Given the description of an element on the screen output the (x, y) to click on. 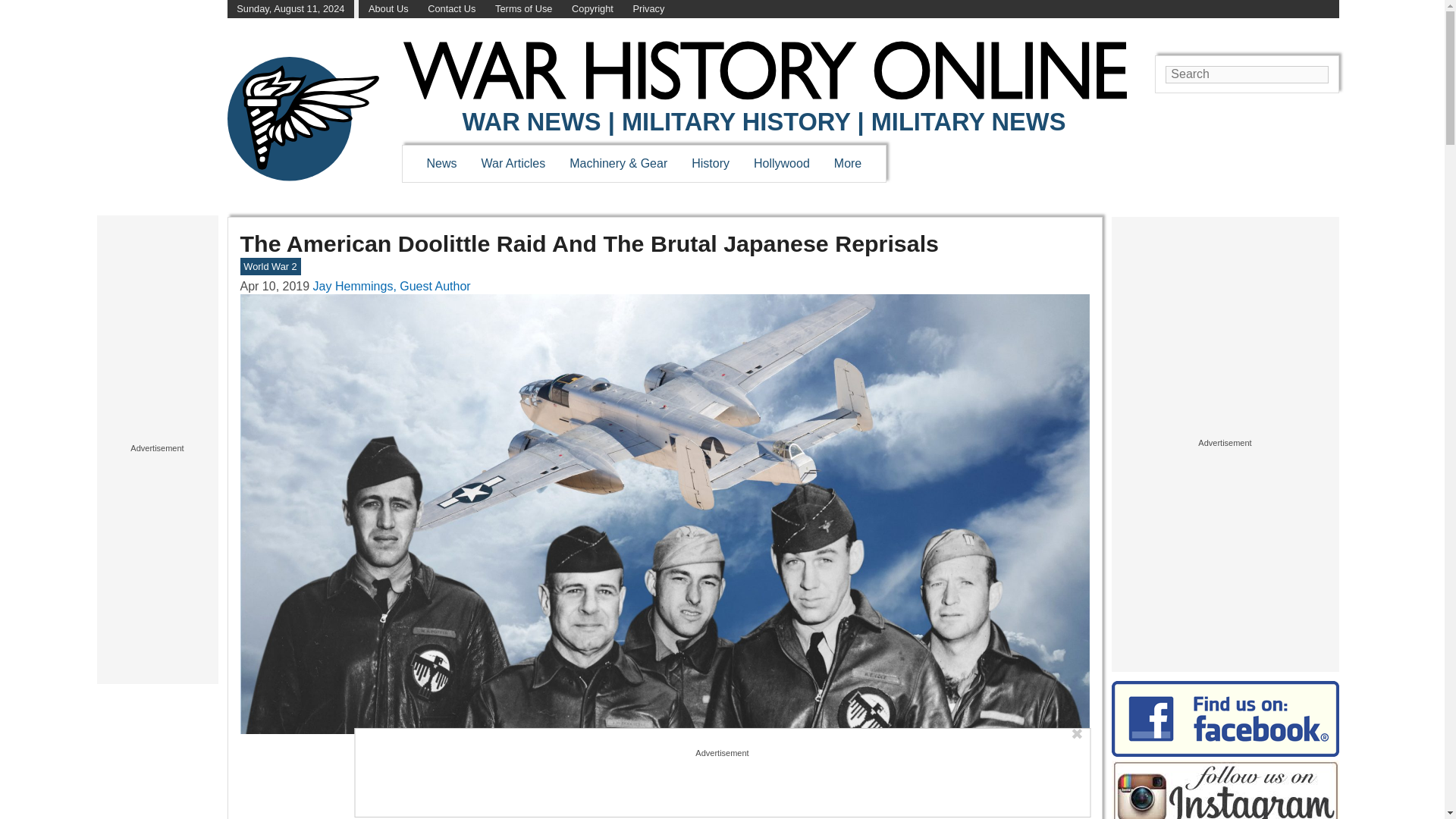
Contact Us (452, 8)
Privacy (647, 8)
History (710, 163)
More (847, 163)
War Articles (513, 163)
Terms of Use (523, 8)
Hollywood (781, 163)
News (441, 163)
About Us (388, 8)
Copyright (592, 8)
